Given the description of an element on the screen output the (x, y) to click on. 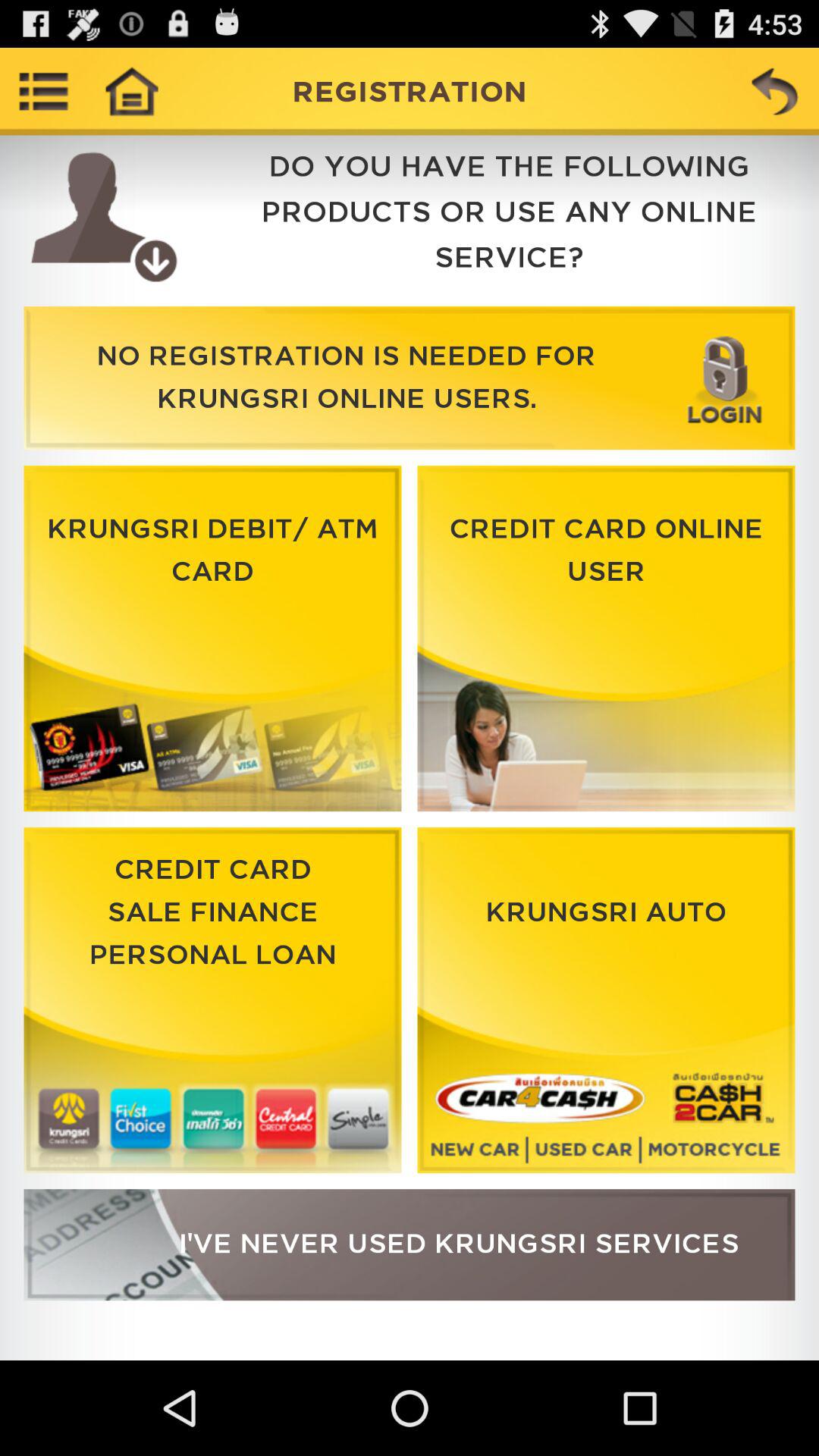
new service user (409, 1244)
